Given the description of an element on the screen output the (x, y) to click on. 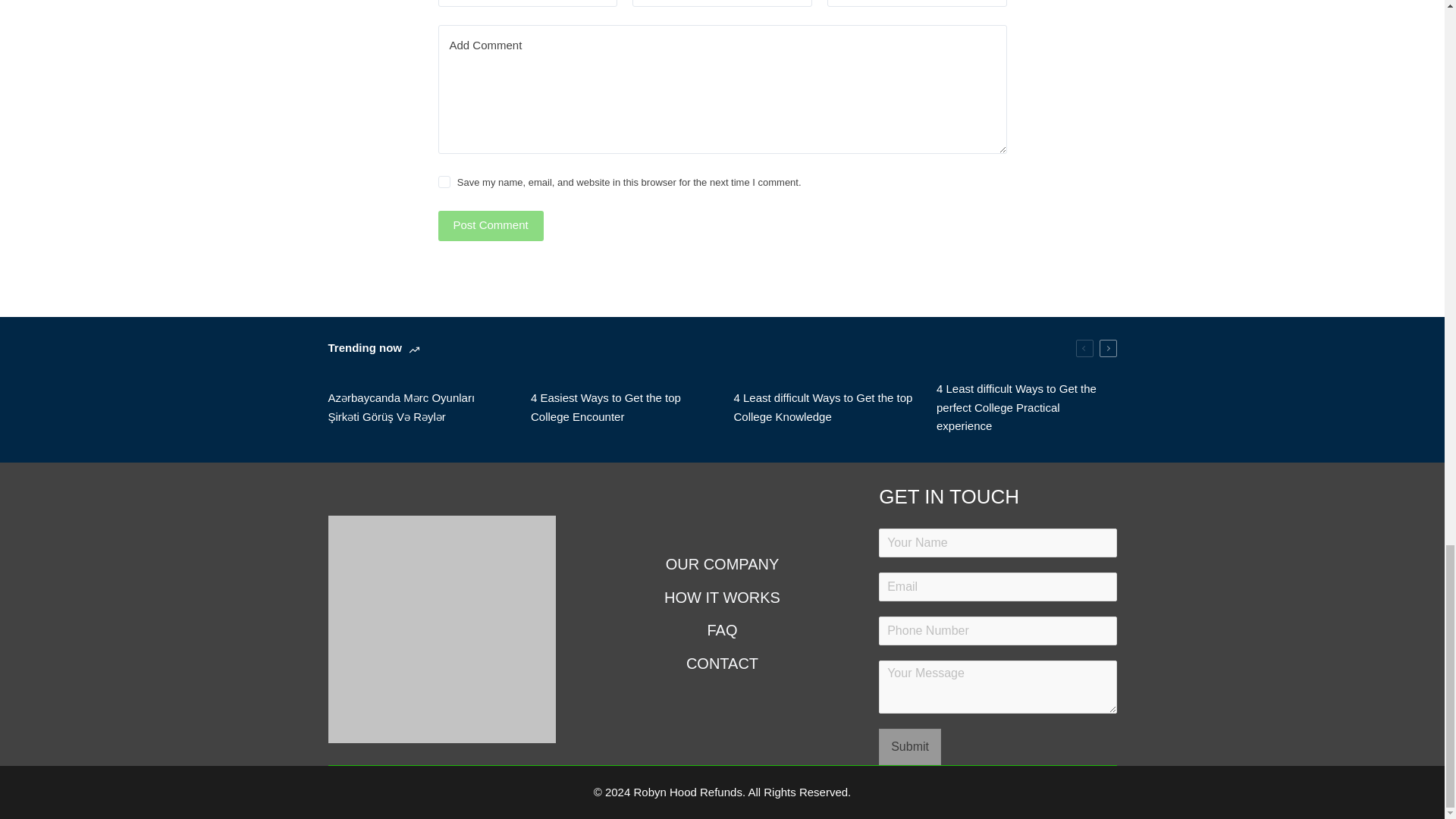
Submit (909, 746)
HOW IT WORKS (721, 597)
4 Least difficult Ways to Get the top College Knowledge (823, 407)
OUR COMPANY (721, 564)
Post Comment (490, 225)
CONTACT (721, 663)
yes (443, 182)
FAQ (721, 629)
4 Easiest Ways to Get the top College Encounter (621, 407)
